Given the description of an element on the screen output the (x, y) to click on. 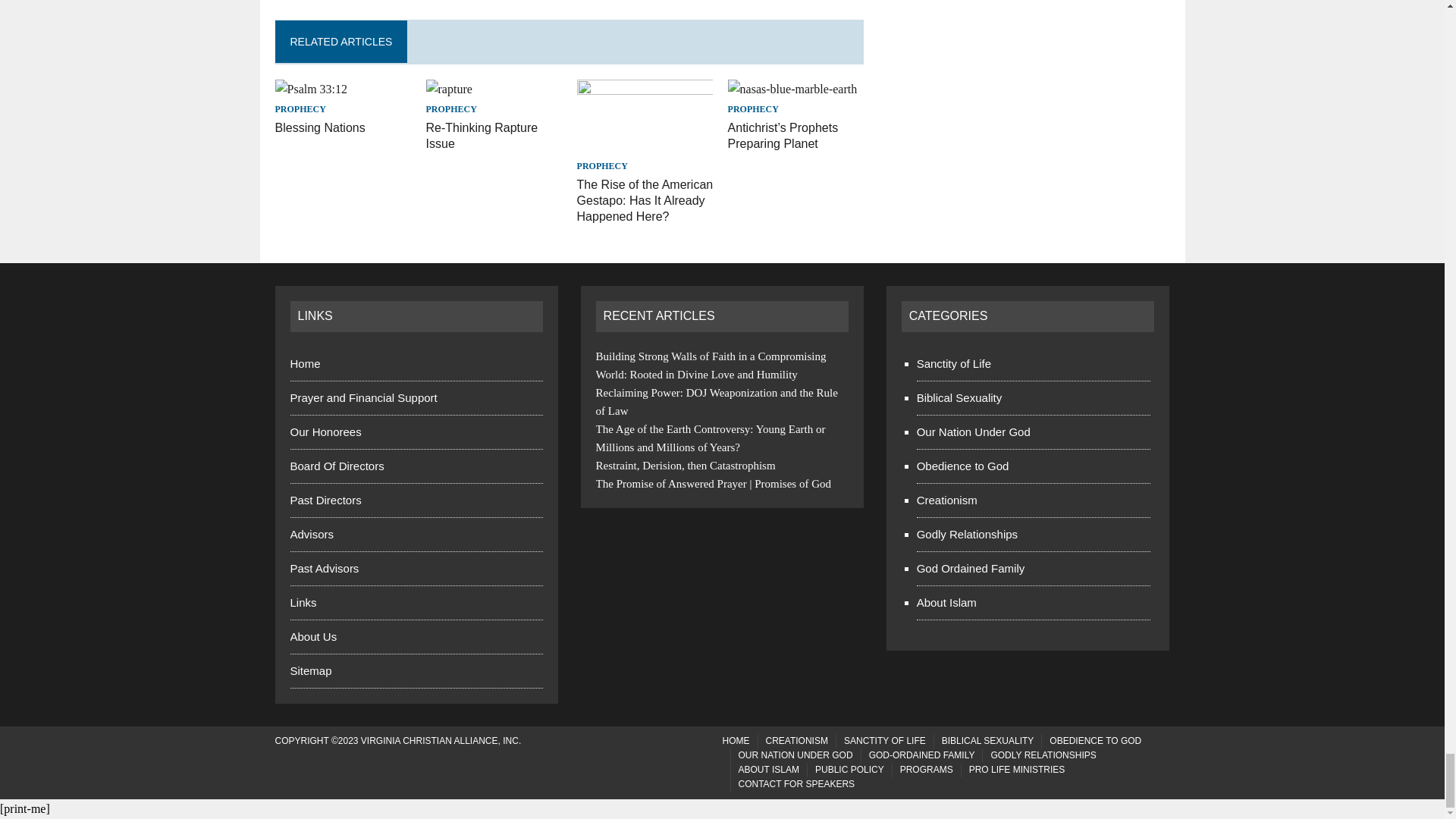
Blessing Nations (311, 88)
Re-Thinking Rapture Issue (448, 88)
Blessing Nations (320, 127)
